Given the description of an element on the screen output the (x, y) to click on. 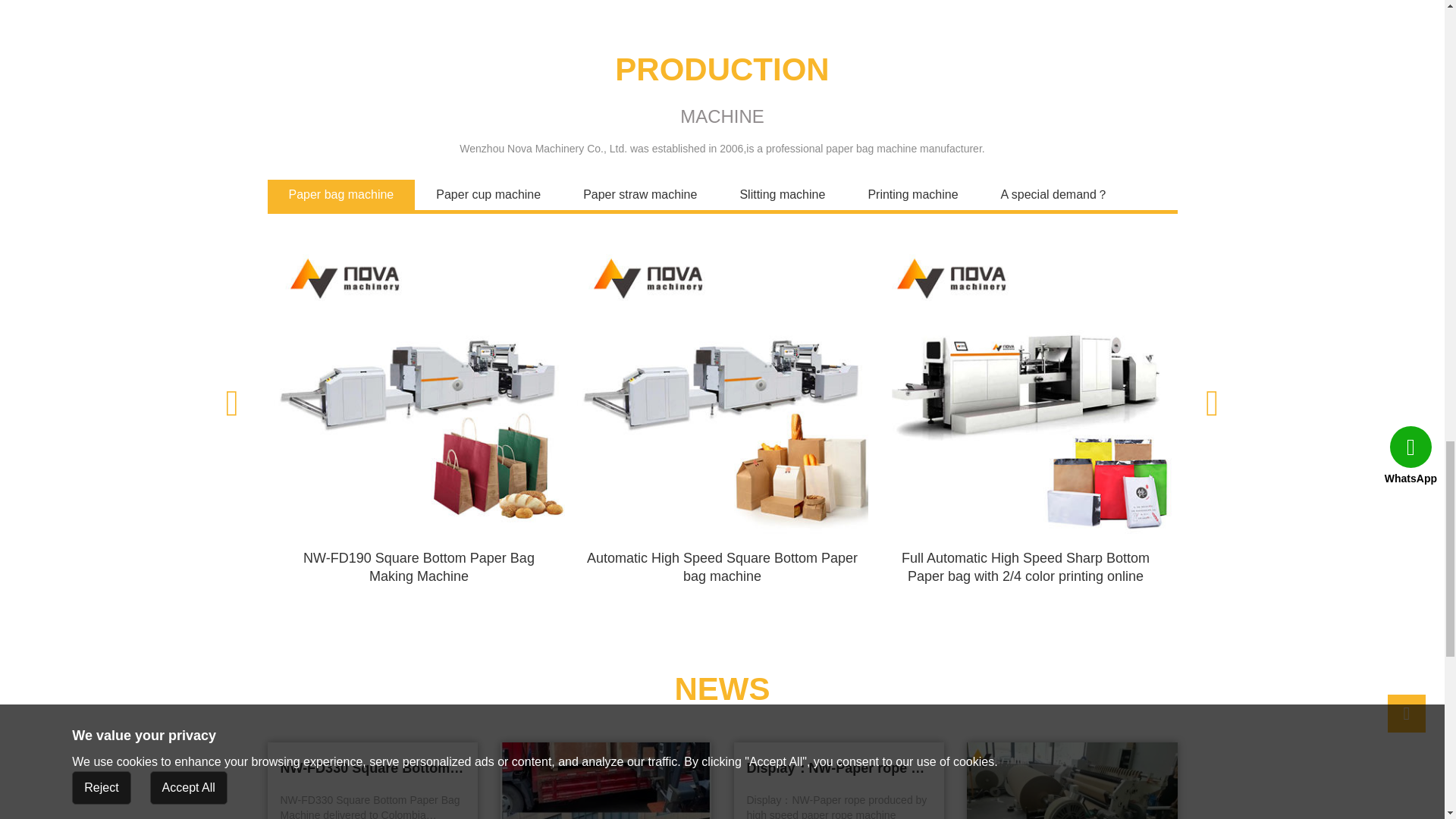
Paper bag machine (340, 194)
Paper bag machine (340, 194)
